Given the description of an element on the screen output the (x, y) to click on. 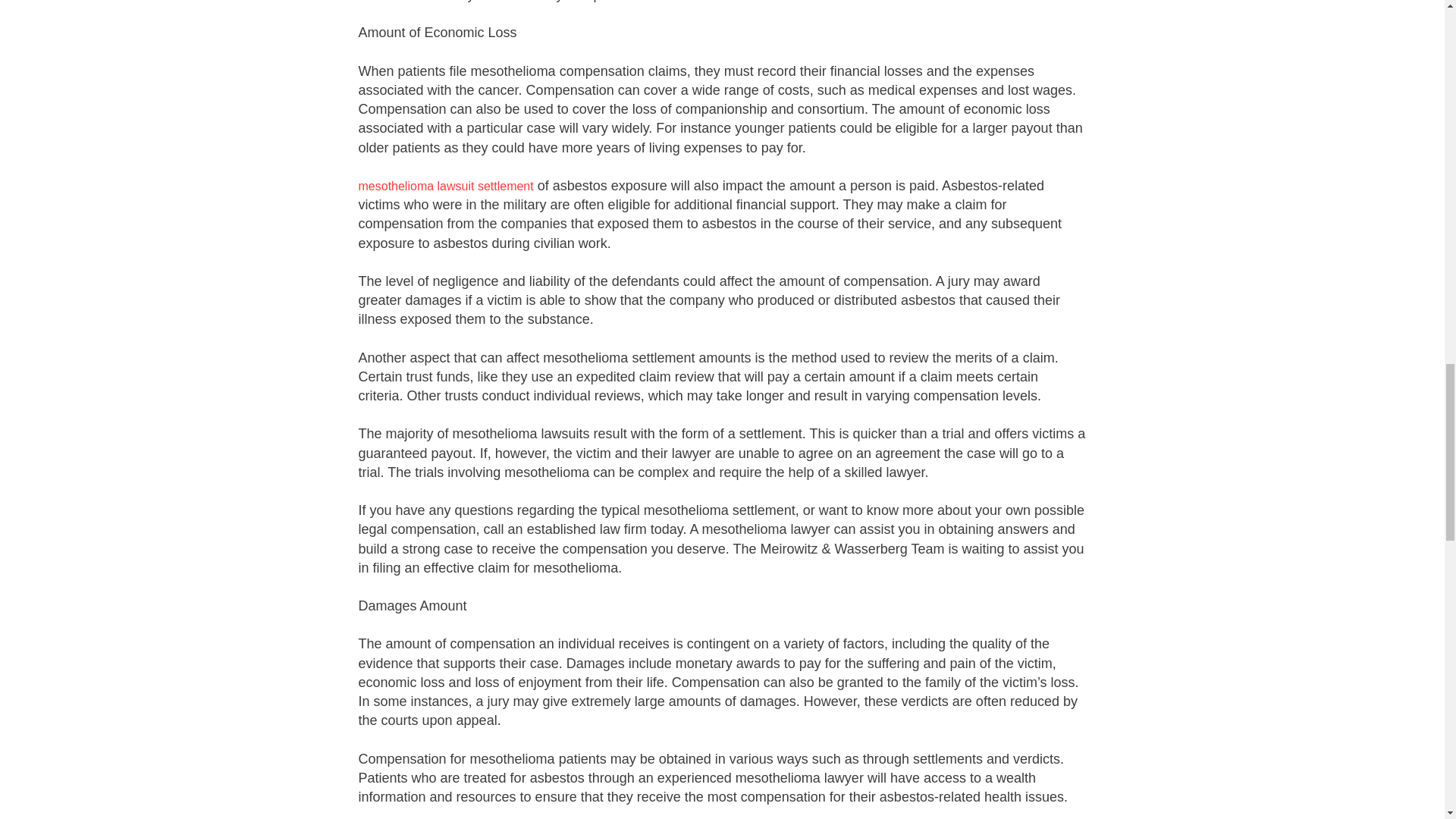
mesothelioma lawsuit settlement (445, 185)
